Given the description of an element on the screen output the (x, y) to click on. 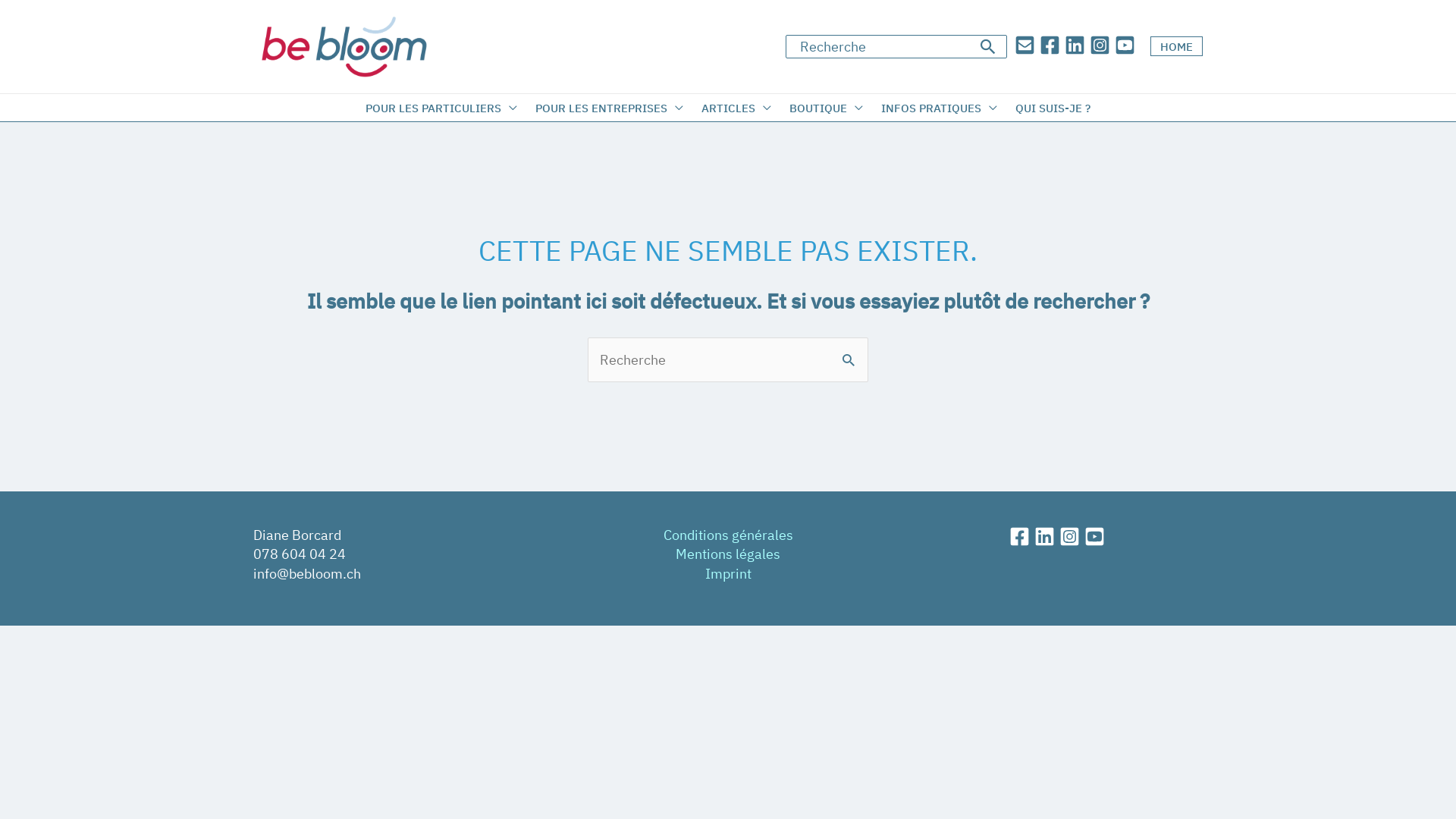
INFOS PRATIQUES Element type: text (939, 107)
Rechercher Element type: text (851, 353)
BOUTIQUE Element type: text (826, 107)
Rechercher Element type: text (988, 46)
info@bebloom.ch Element type: text (306, 573)
POUR LES PARTICULIERS Element type: text (441, 107)
QUI SUIS-JE ? Element type: text (1052, 107)
HOME Element type: text (1176, 46)
POUR LES ENTREPRISES Element type: text (609, 107)
Imprint Element type: text (728, 573)
ARTICLES Element type: text (736, 107)
